Given the description of an element on the screen output the (x, y) to click on. 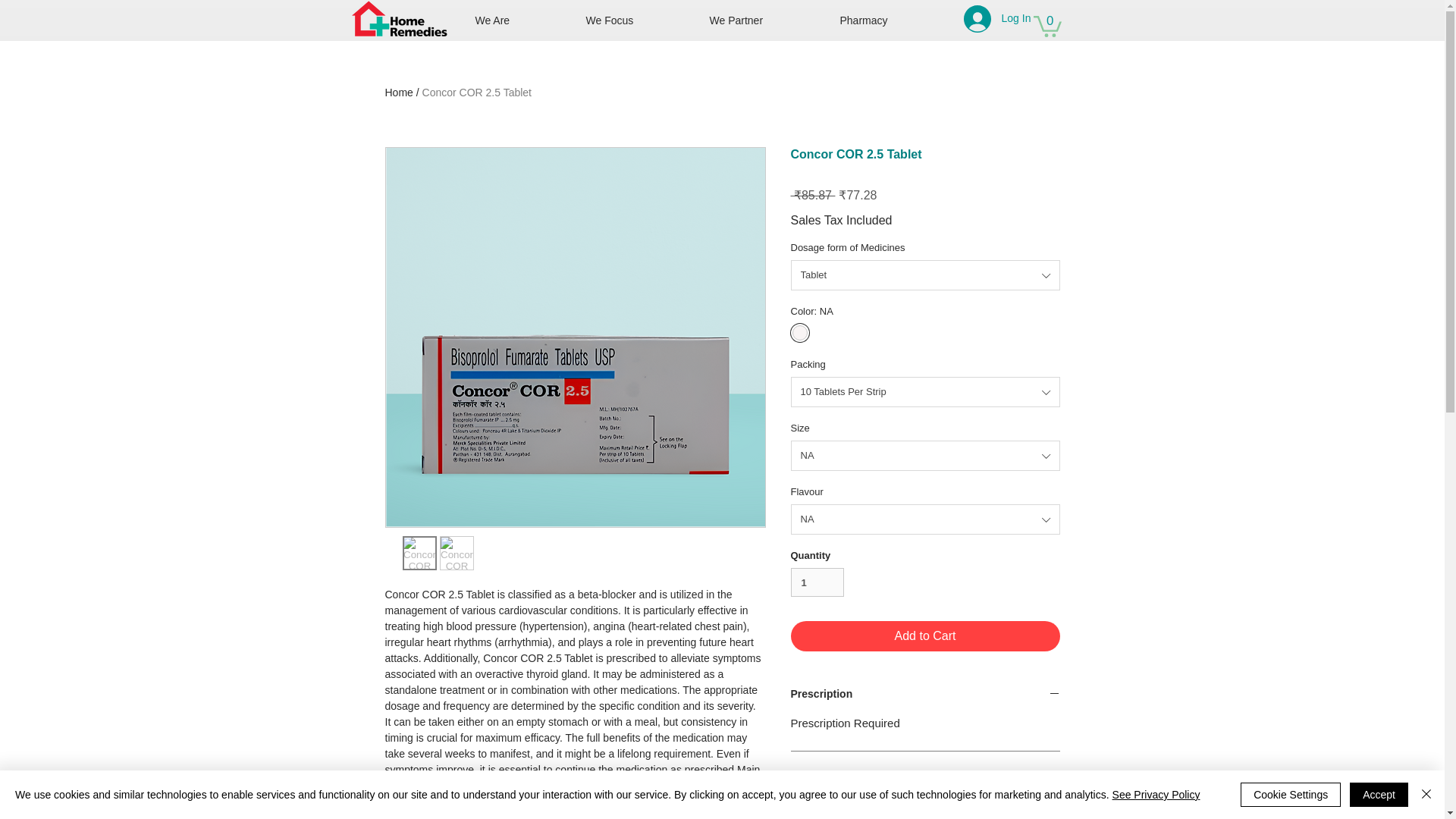
We Focus (636, 20)
1 (817, 582)
Pharmacy (890, 20)
Log In (987, 18)
NA (924, 455)
Home (399, 92)
Tablet (924, 275)
We Are (519, 20)
Add to Cart (924, 635)
Composition (924, 776)
